Given the description of an element on the screen output the (x, y) to click on. 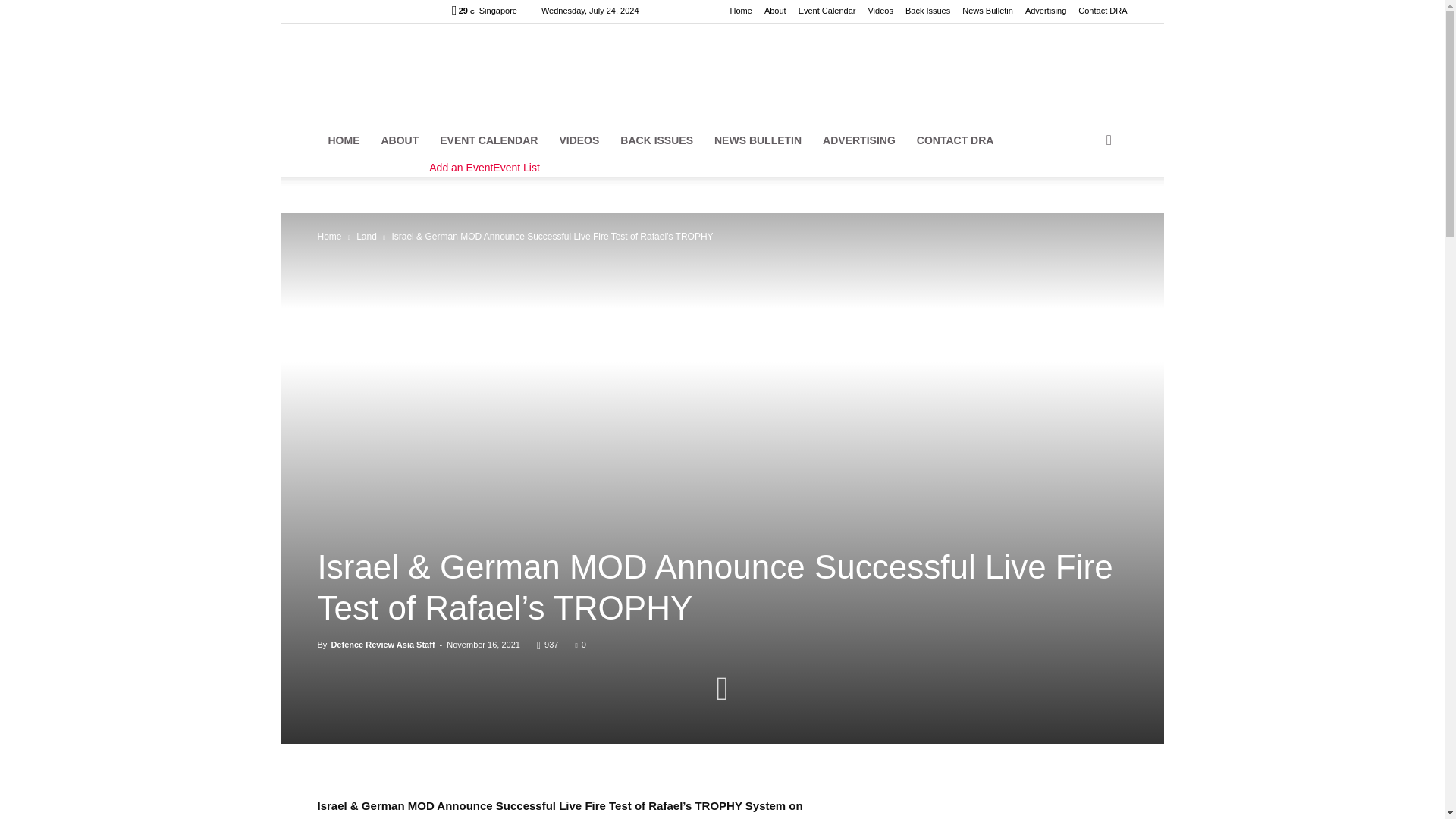
Home (741, 10)
NEWS BULLETIN (757, 140)
Videos (879, 10)
VIDEOS (579, 140)
View all posts in Land (366, 235)
CONTACT DRA (954, 140)
BACK ISSUES (656, 140)
News Bulletin (987, 10)
Add an Event (461, 167)
ADVERTISING (858, 140)
Back Issues (927, 10)
ABOUT (399, 140)
EVENT CALENDAR (488, 140)
Event Calendar (826, 10)
